Given the description of an element on the screen output the (x, y) to click on. 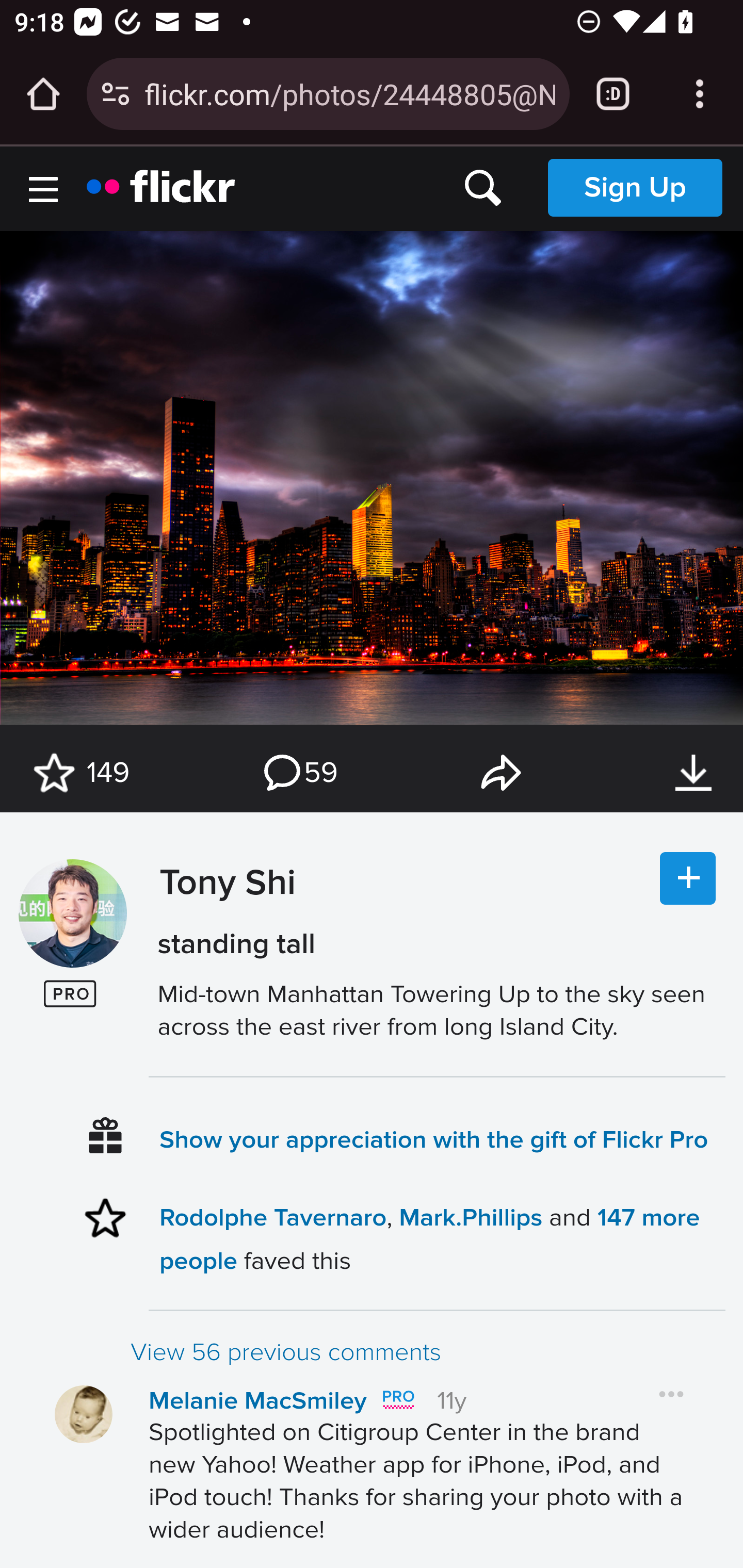
Open the home page (43, 93)
Connection is secure (115, 93)
Switch or close tabs (612, 93)
Customize and control Google Chrome (699, 93)
flickr.com/photos/24448805@N07/2909441524 (349, 92)
Sign Up Sign Up Sign Up (634, 187)
59 (299, 772)
Download this photo (692, 772)
Follow (687, 878)
tonyshi (72, 914)
Tony Shi (222, 931)
Show your appreciation with the gift of Flickr Pro (434, 1138)
147 more people (429, 1238)
View 56 previous comments (427, 1352)
macsmiley (83, 1414)
Melanie MacSmiley (257, 1400)
Flickr ♥ our Old School Pros (397, 1399)
